Given the description of an element on the screen output the (x, y) to click on. 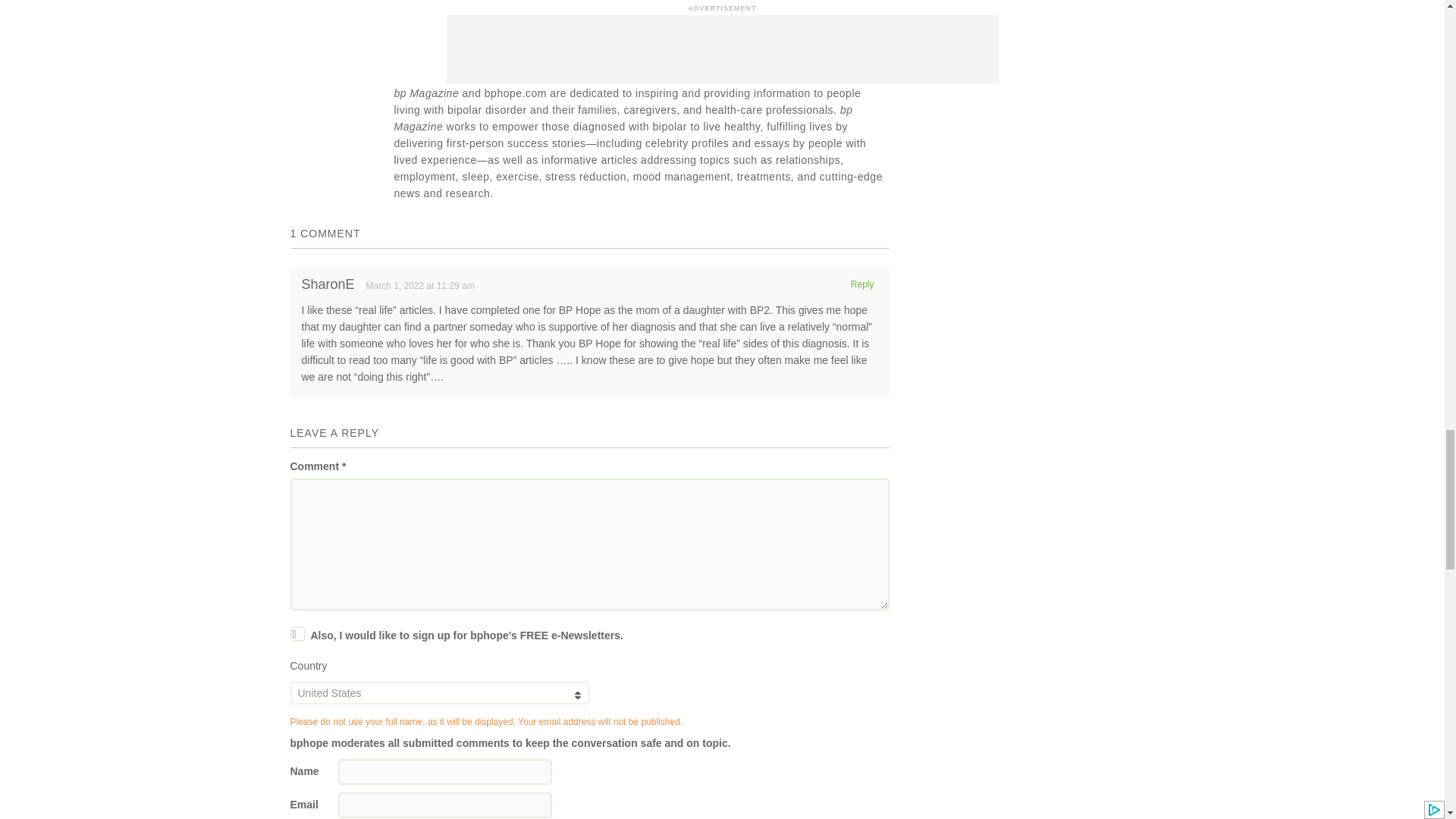
Twitter (312, 4)
Hide (302, 113)
Email (312, 53)
Pinterest (312, 23)
More (312, 83)
